Given the description of an element on the screen output the (x, y) to click on. 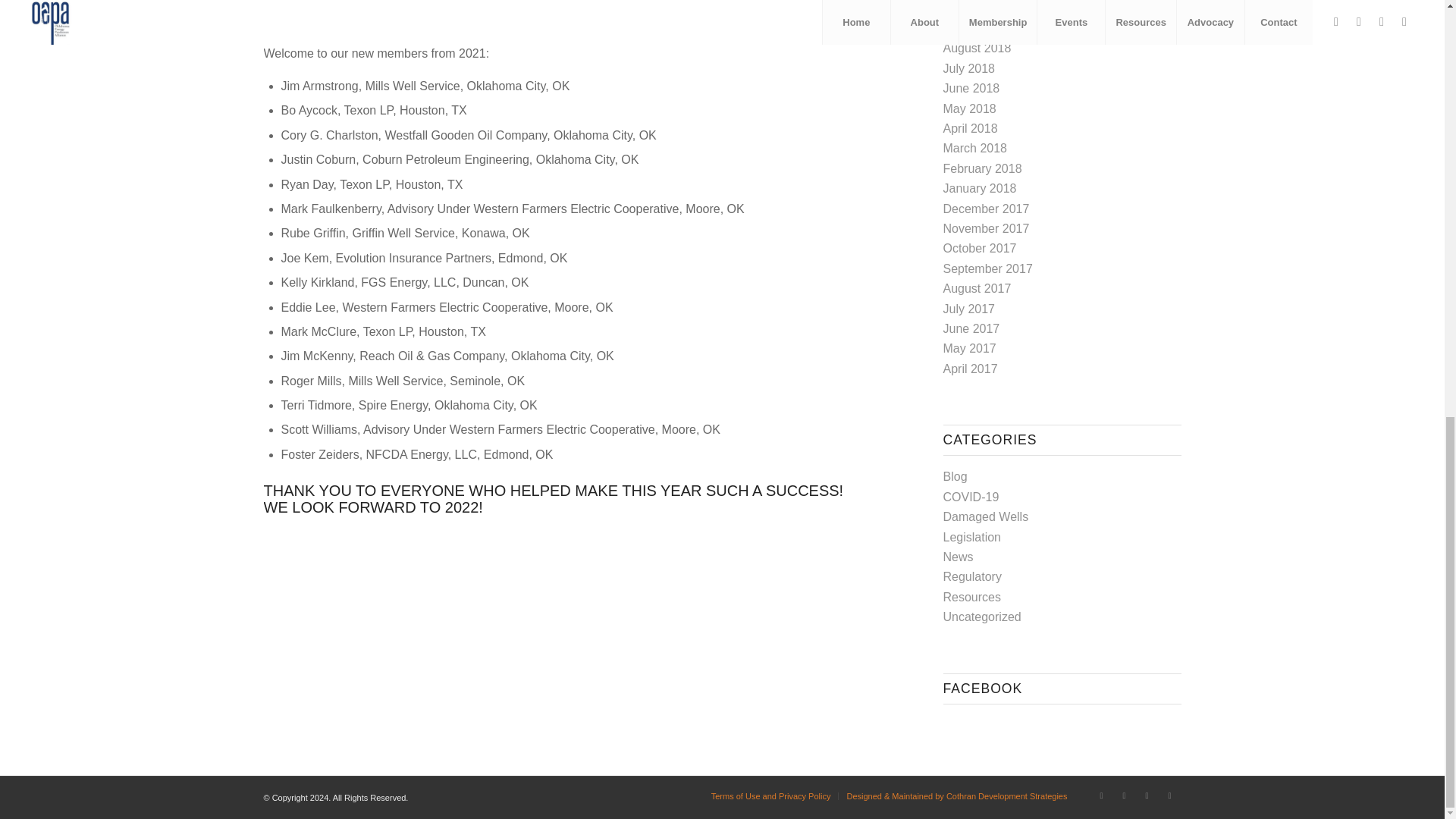
Linkedin (1124, 794)
Mail (1169, 794)
Facebook (1101, 794)
Youtube (1146, 794)
